Given the description of an element on the screen output the (x, y) to click on. 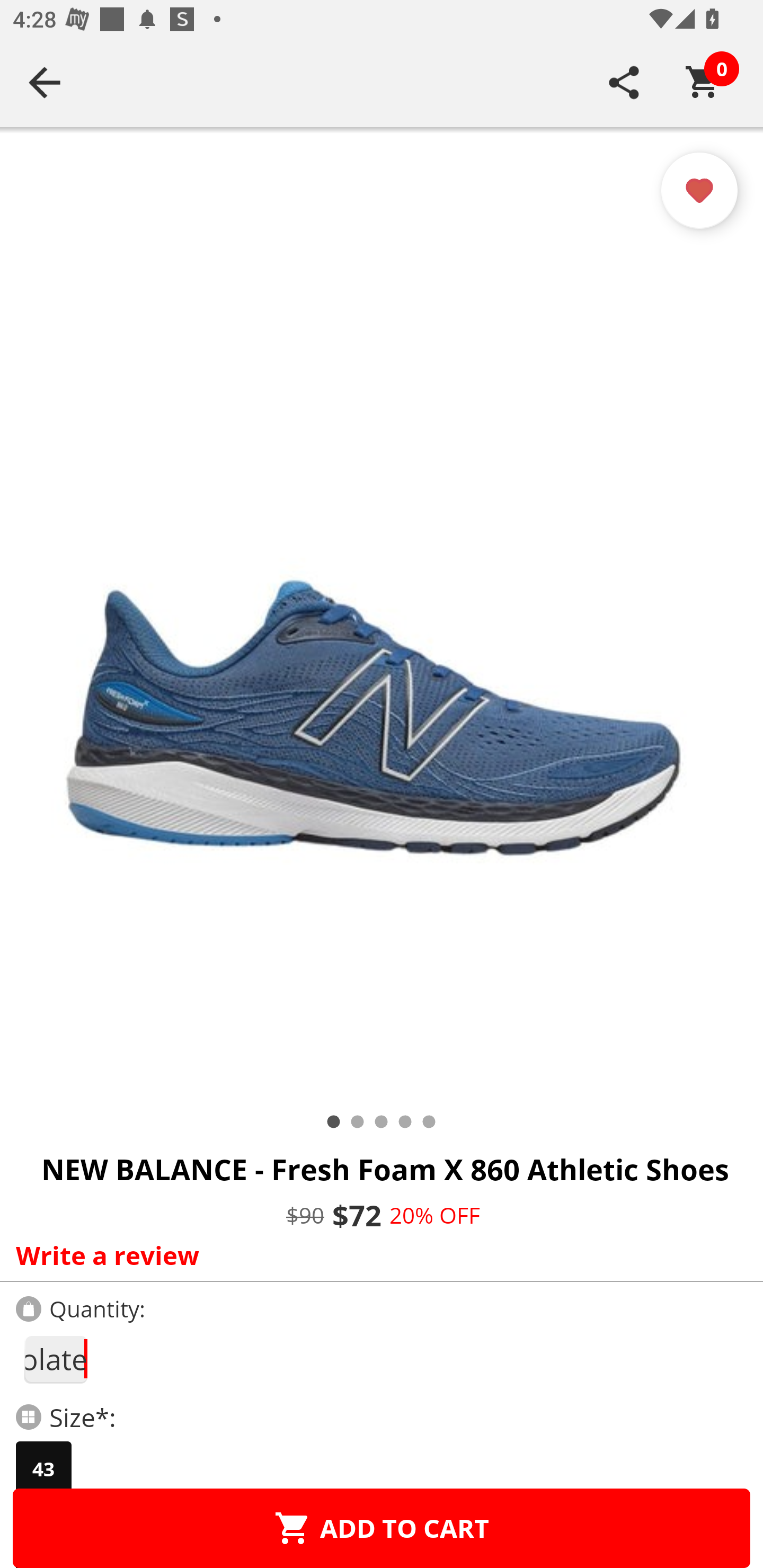
Navigate up (44, 82)
SHARE (623, 82)
Cart (703, 81)
Write a review (377, 1255)
1man shirtschocolate (55, 1358)
43 (43, 1468)
ADD TO CART (381, 1528)
